Given the description of an element on the screen output the (x, y) to click on. 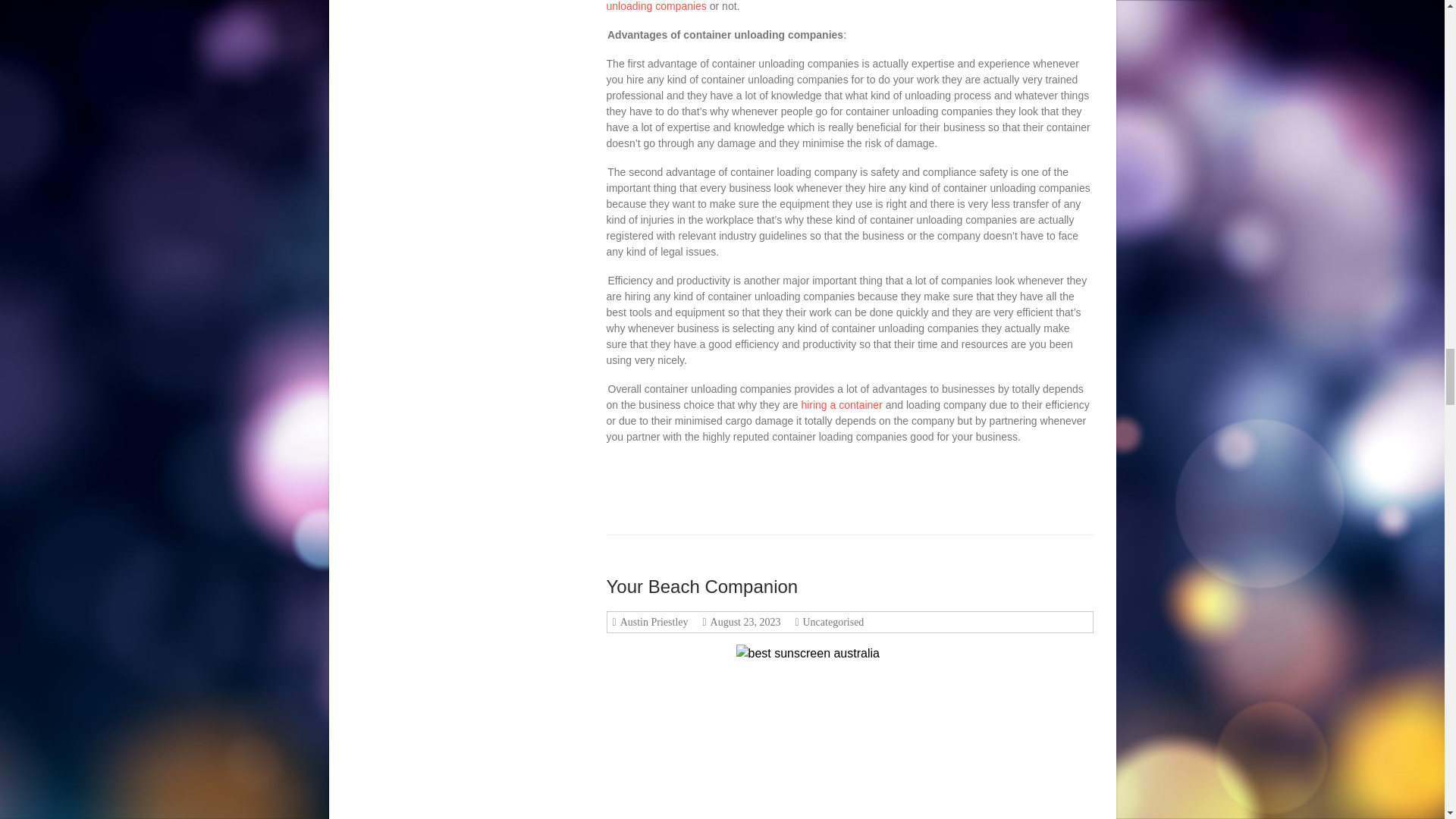
hiring a container (841, 404)
container unloading companies (833, 6)
Austin Priestley (651, 622)
Your Beach Companion (702, 586)
Uncategorised (831, 622)
August 23, 2023 (743, 622)
